Given the description of an element on the screen output the (x, y) to click on. 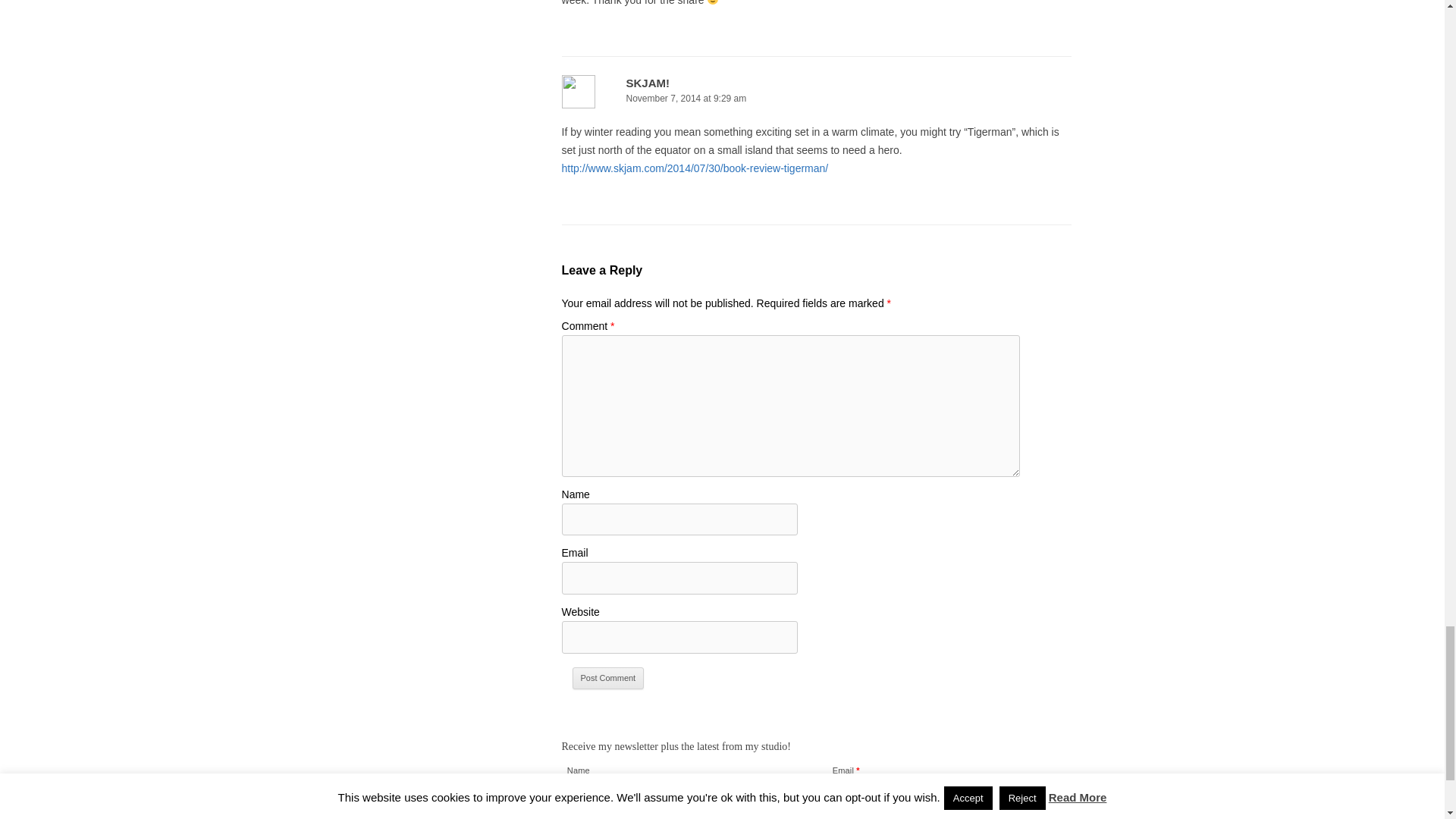
Post Comment (608, 678)
